Given the description of an element on the screen output the (x, y) to click on. 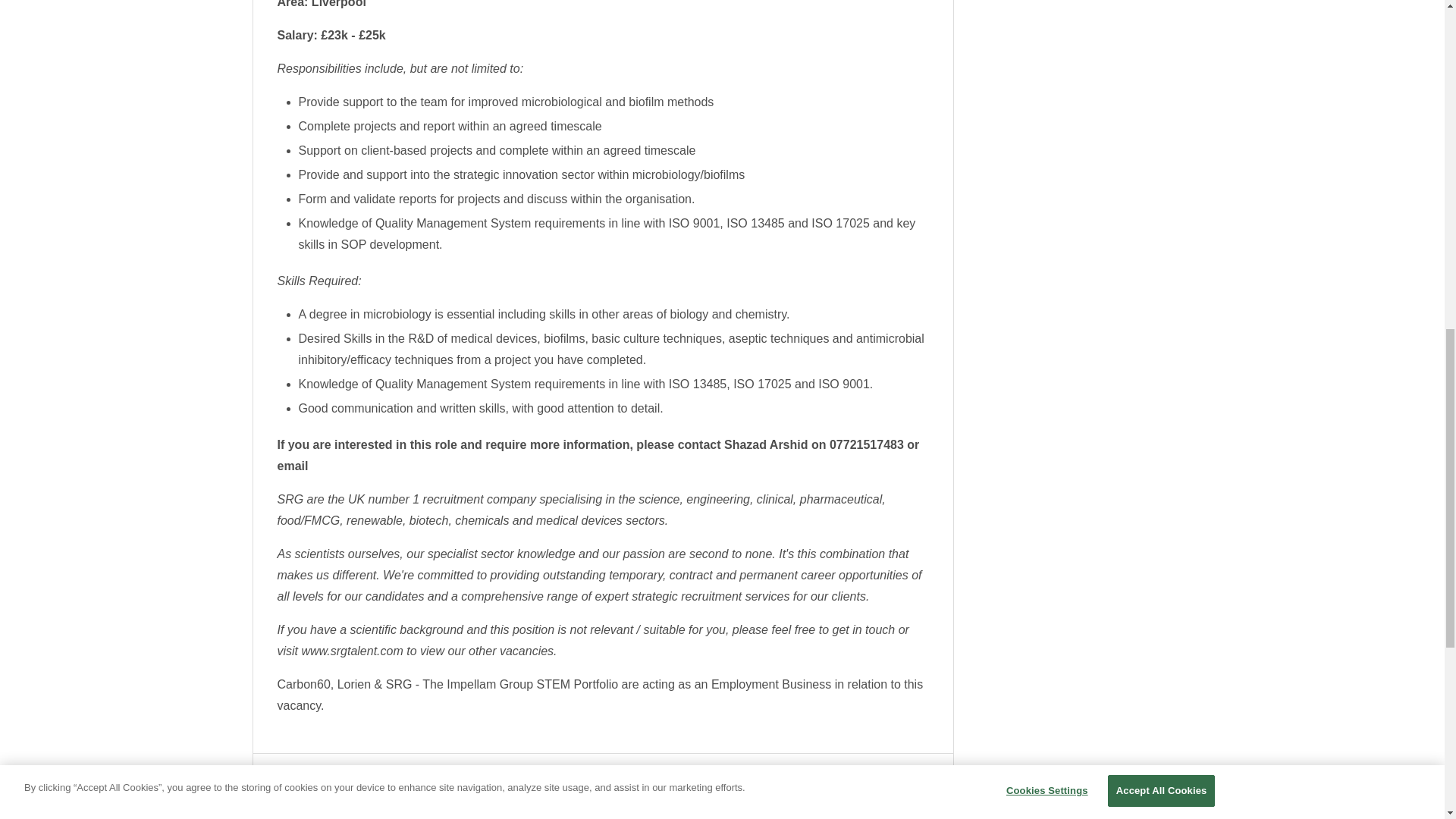
Twitter (378, 785)
Facebook (360, 785)
